Given the description of an element on the screen output the (x, y) to click on. 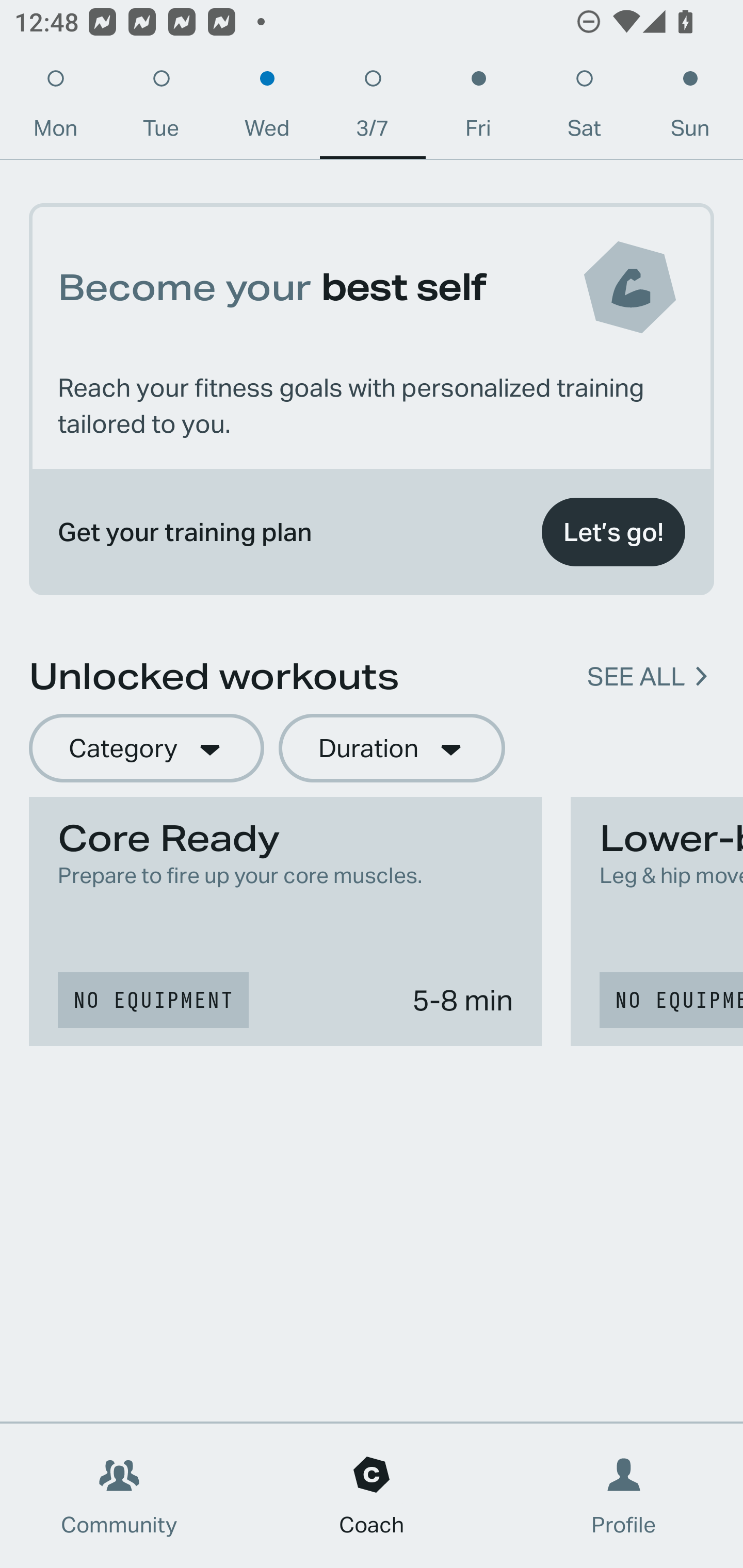
Mon (55, 108)
Tue (160, 108)
Wed (266, 108)
3/7 (372, 108)
Fri (478, 108)
Sat (584, 108)
Sun (690, 108)
Let’s go! (613, 532)
SEE ALL (635, 676)
Category (146, 748)
Duration (391, 748)
Community (119, 1495)
Profile (624, 1495)
